Given the description of an element on the screen output the (x, y) to click on. 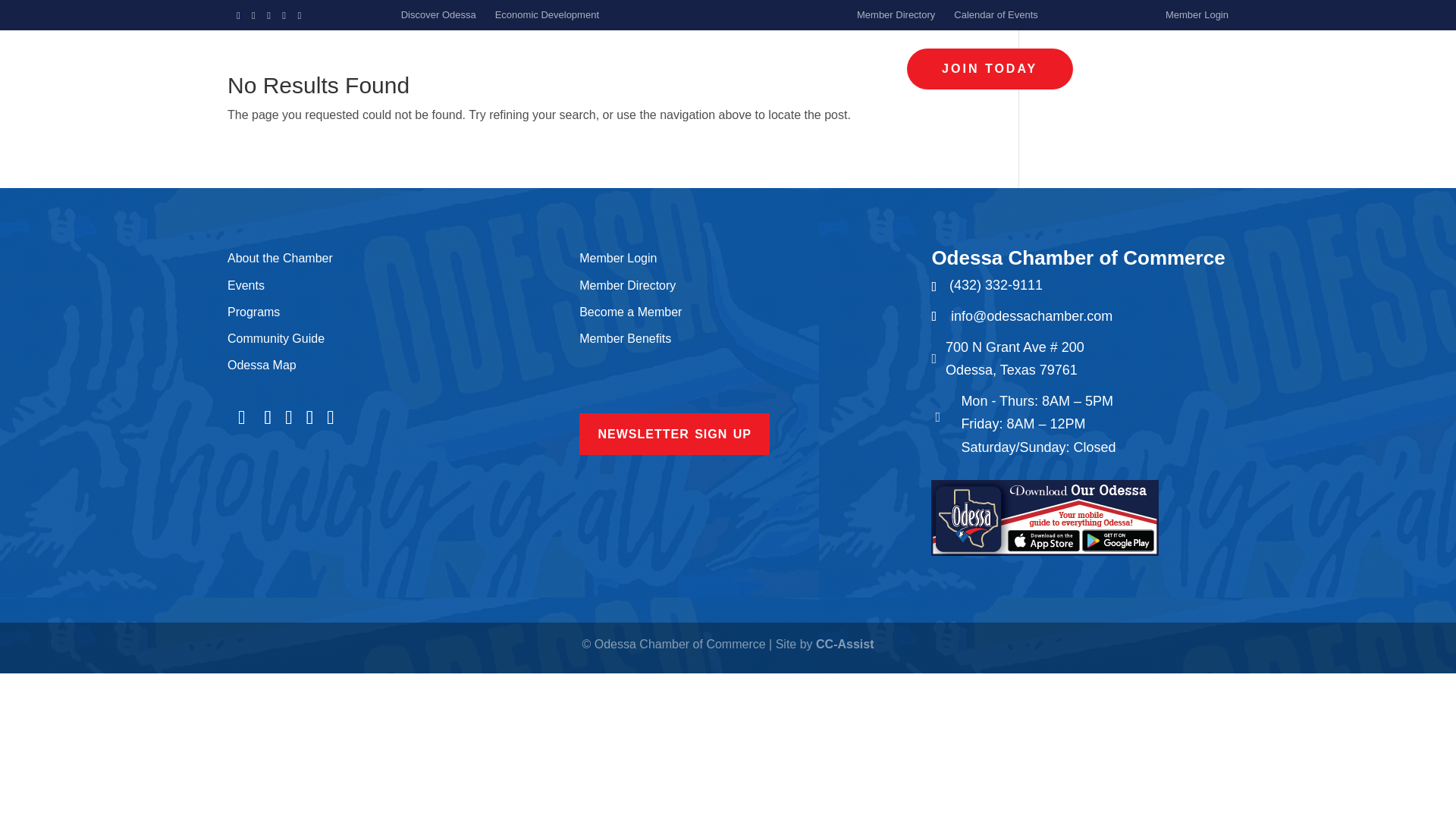
Calendar of Events (995, 14)
COMMUNITY (810, 68)
CHAMBER (479, 68)
JOIN TODAY (990, 68)
Discover Odessa (438, 14)
Member Login (1197, 14)
Events (245, 285)
MEMBERS (645, 68)
Programs (253, 311)
Community Guide (275, 338)
Member Directory (895, 14)
Odessa Map (262, 364)
Economic Development (546, 14)
About the Chamber (280, 257)
